Given the description of an element on the screen output the (x, y) to click on. 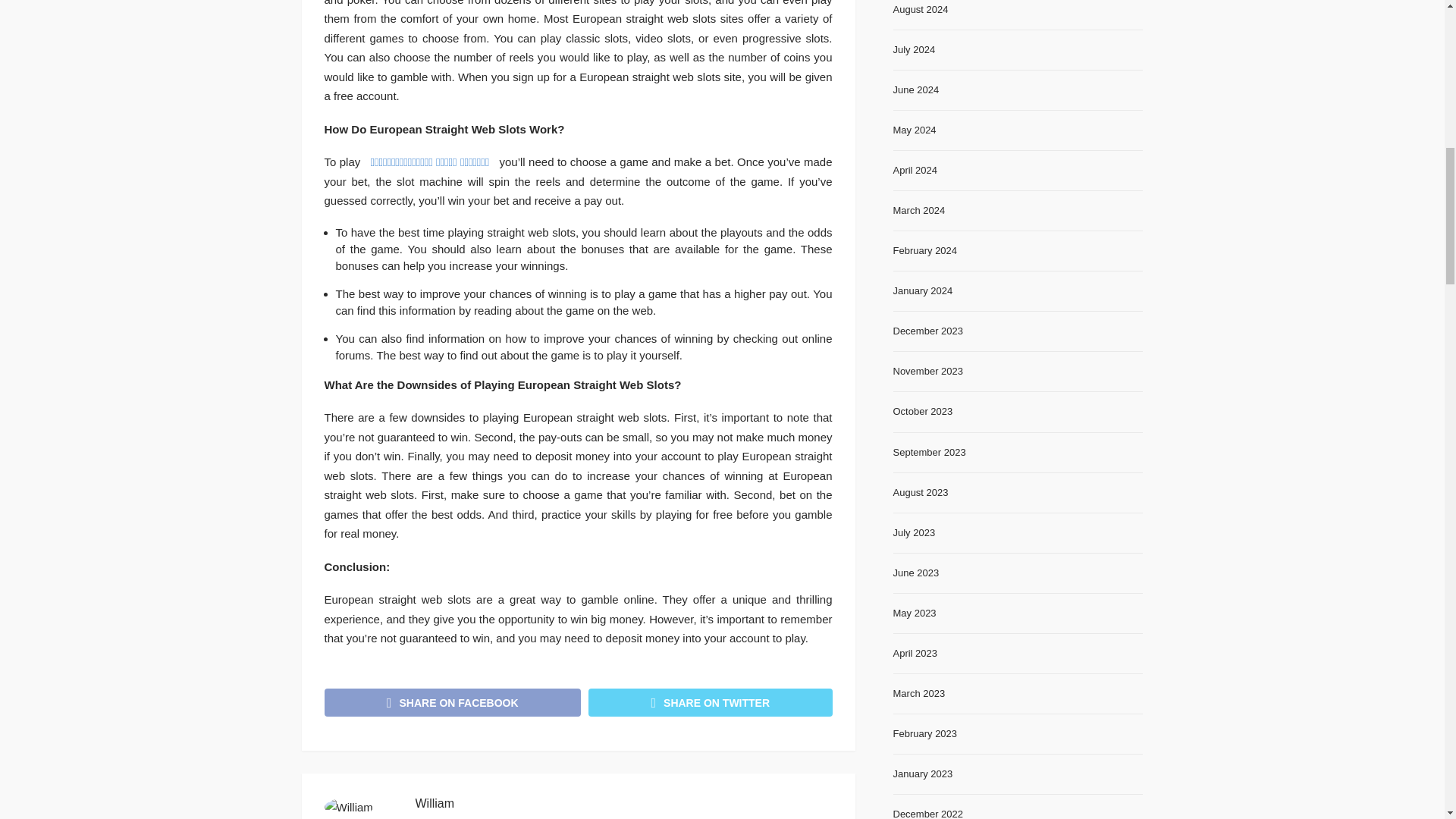
SHARE ON TWITTER (709, 702)
William (434, 803)
SHARE ON FACEBOOK (452, 702)
